Given the description of an element on the screen output the (x, y) to click on. 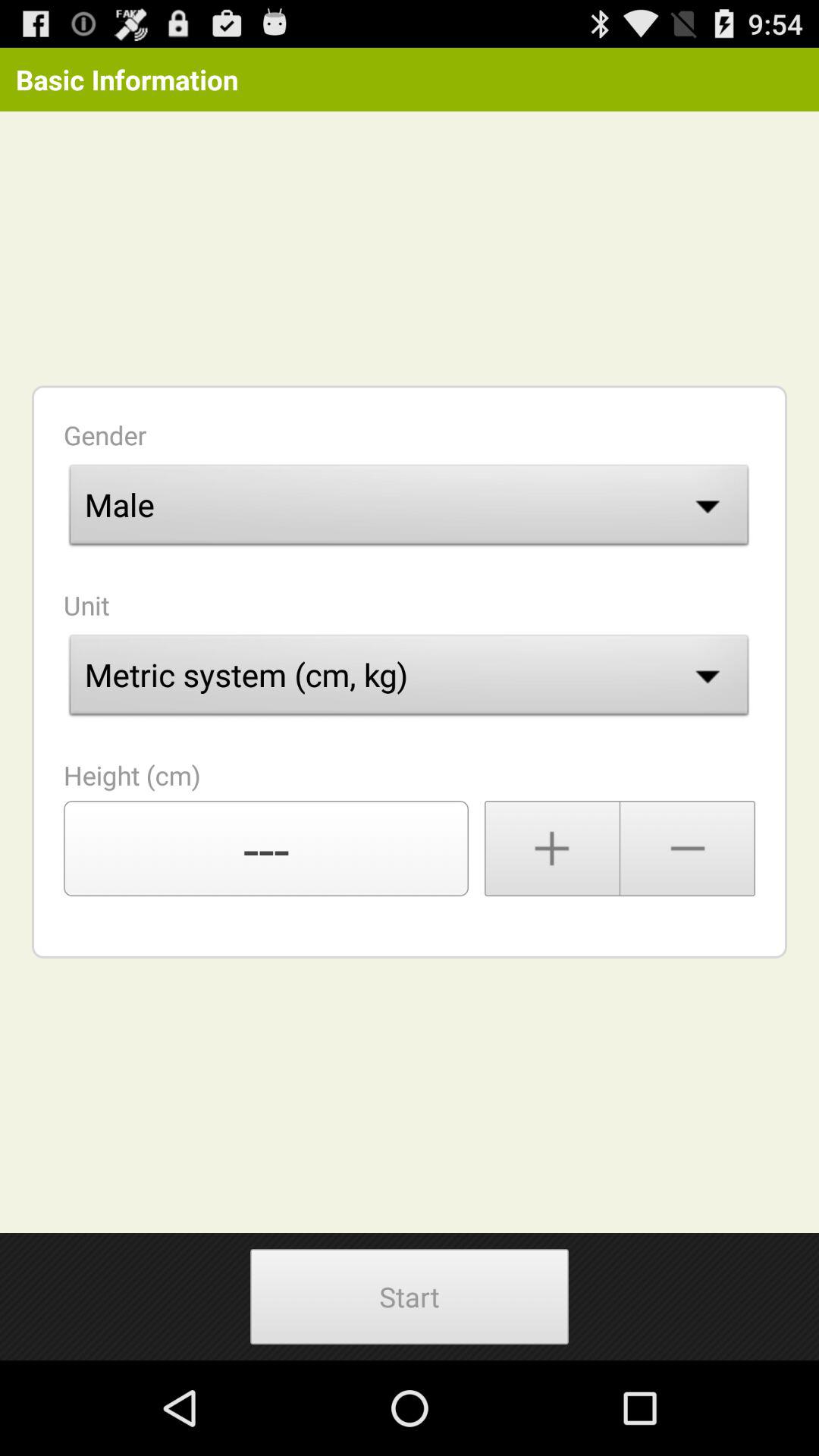
select the item above start (265, 848)
